Given the description of an element on the screen output the (x, y) to click on. 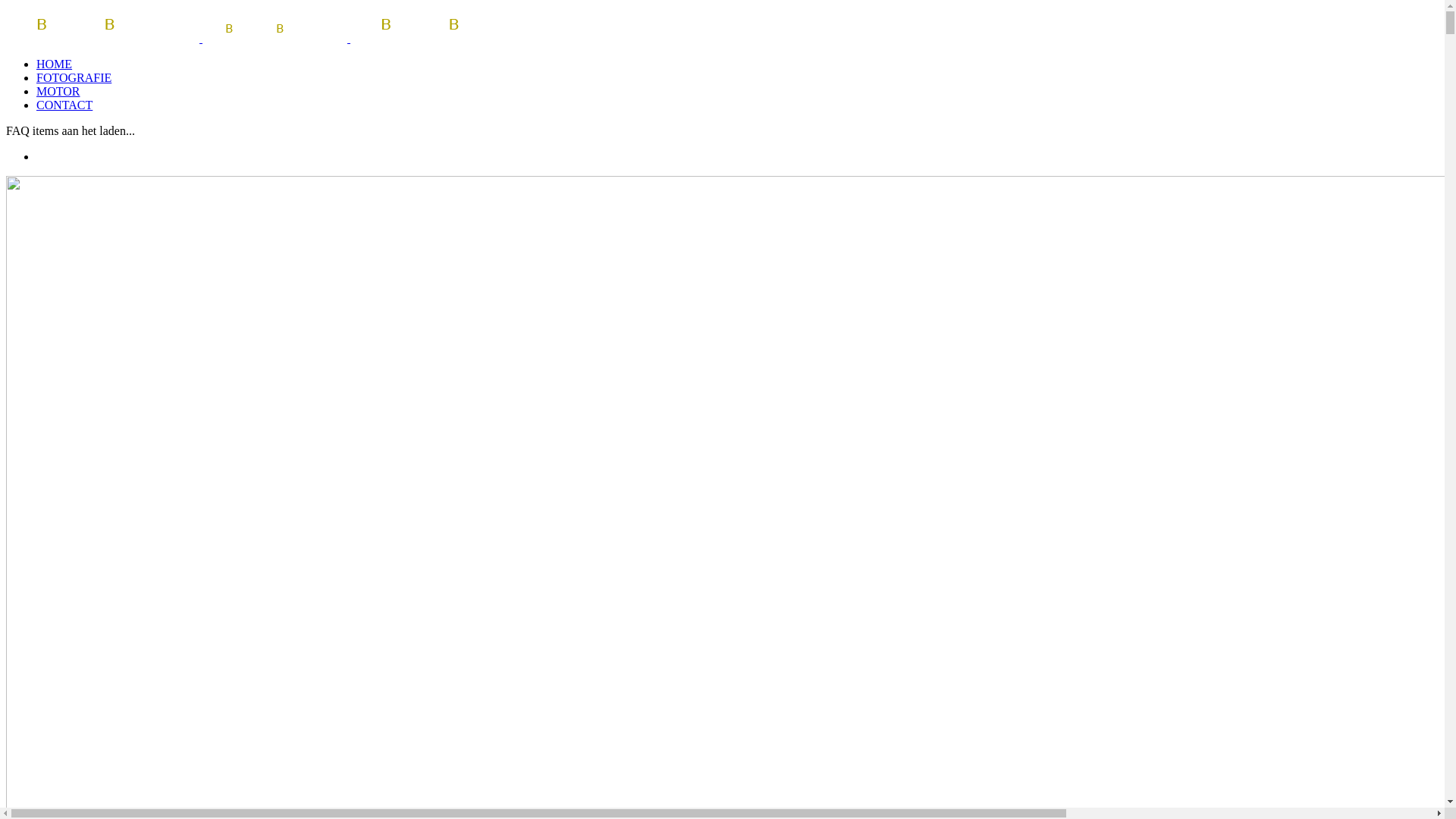
HOME Element type: text (54, 63)
Ga naar inhoud Element type: text (5, 5)
FOTOGRAFIE Element type: text (73, 77)
CONTACT Element type: text (64, 104)
MOTOR Element type: text (58, 90)
